Given the description of an element on the screen output the (x, y) to click on. 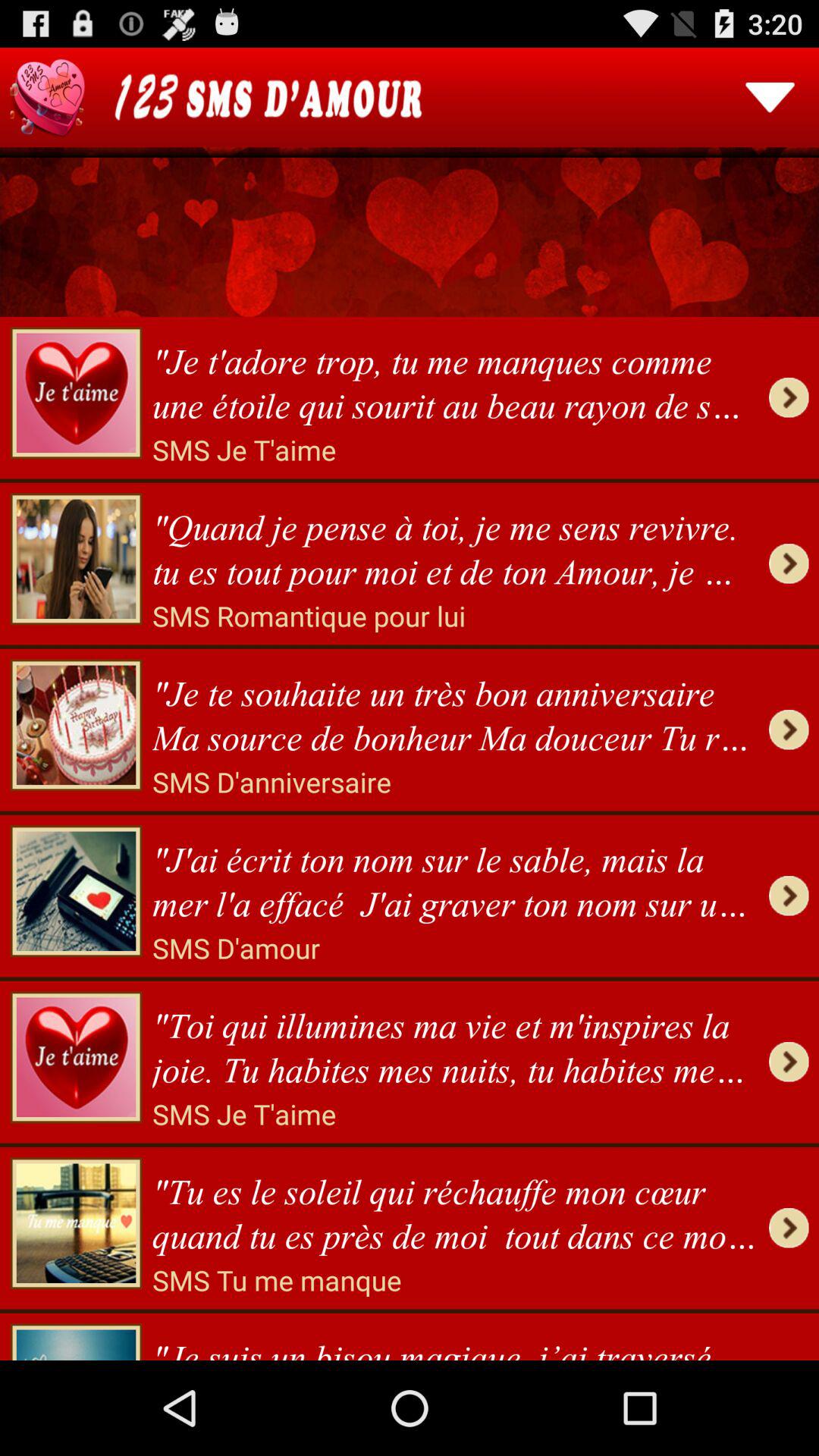
tap app above sms romantique pour (455, 545)
